Given the description of an element on the screen output the (x, y) to click on. 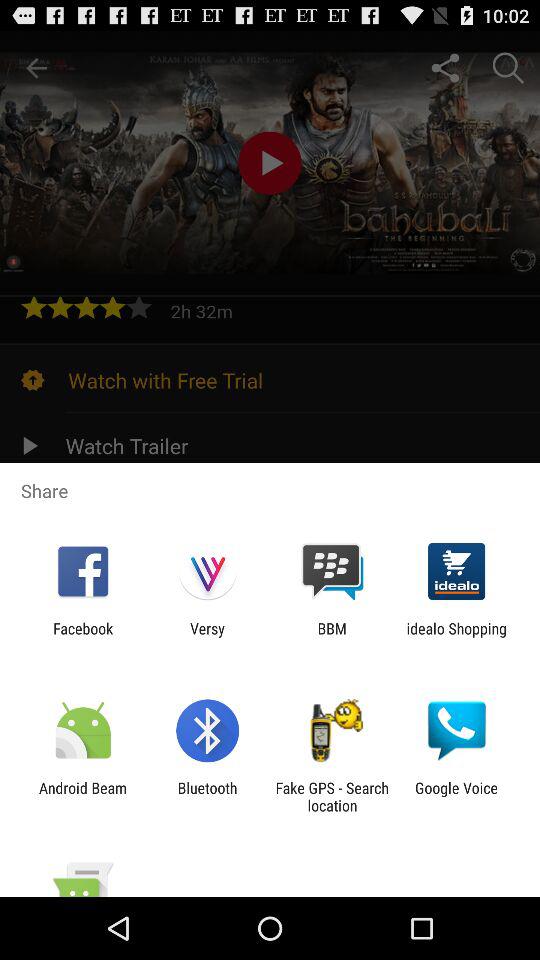
select item next to the fake gps search item (207, 796)
